Given the description of an element on the screen output the (x, y) to click on. 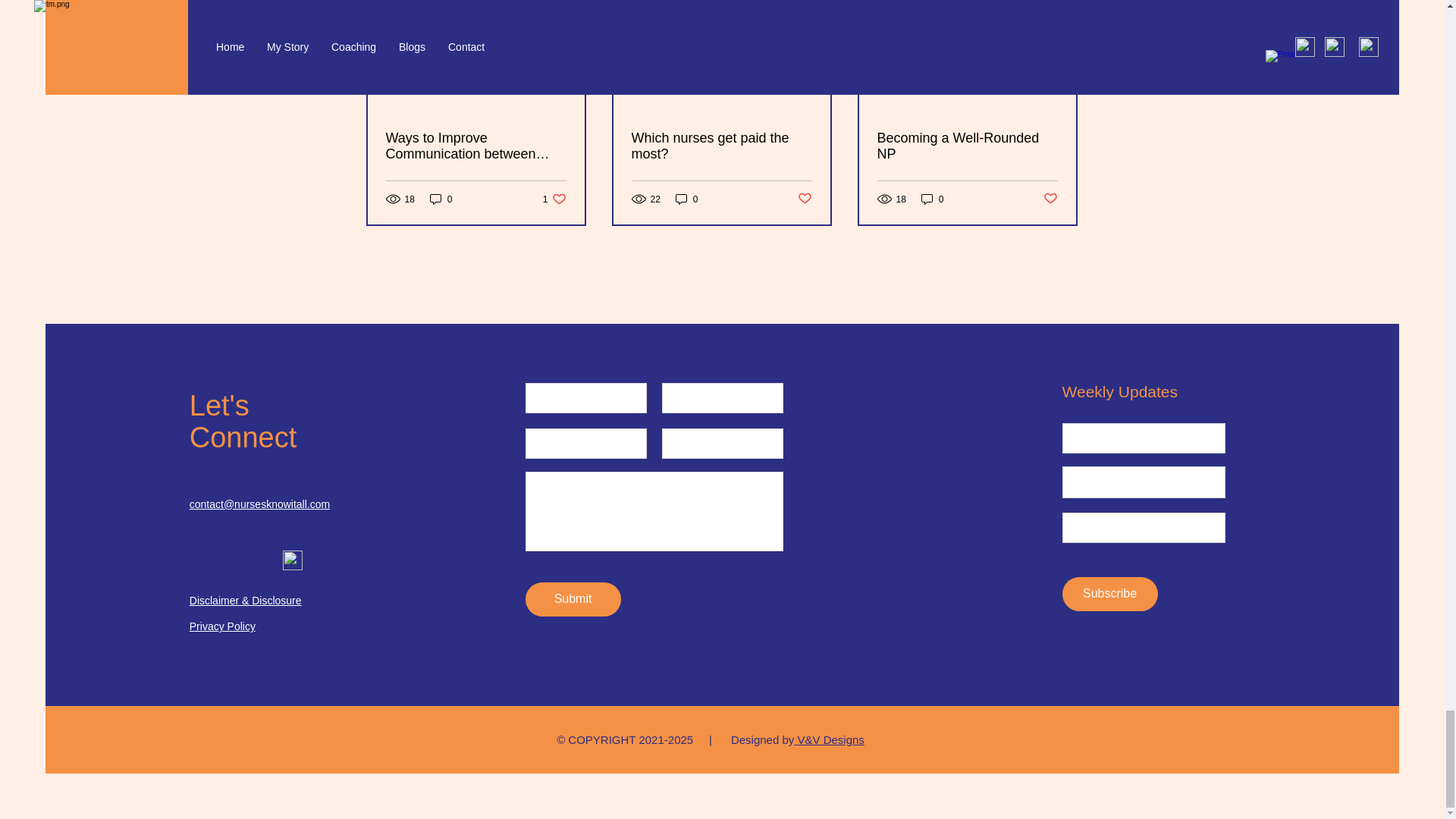
Ways to Improve Communication between Nurses (554, 198)
0 (475, 146)
